Given the description of an element on the screen output the (x, y) to click on. 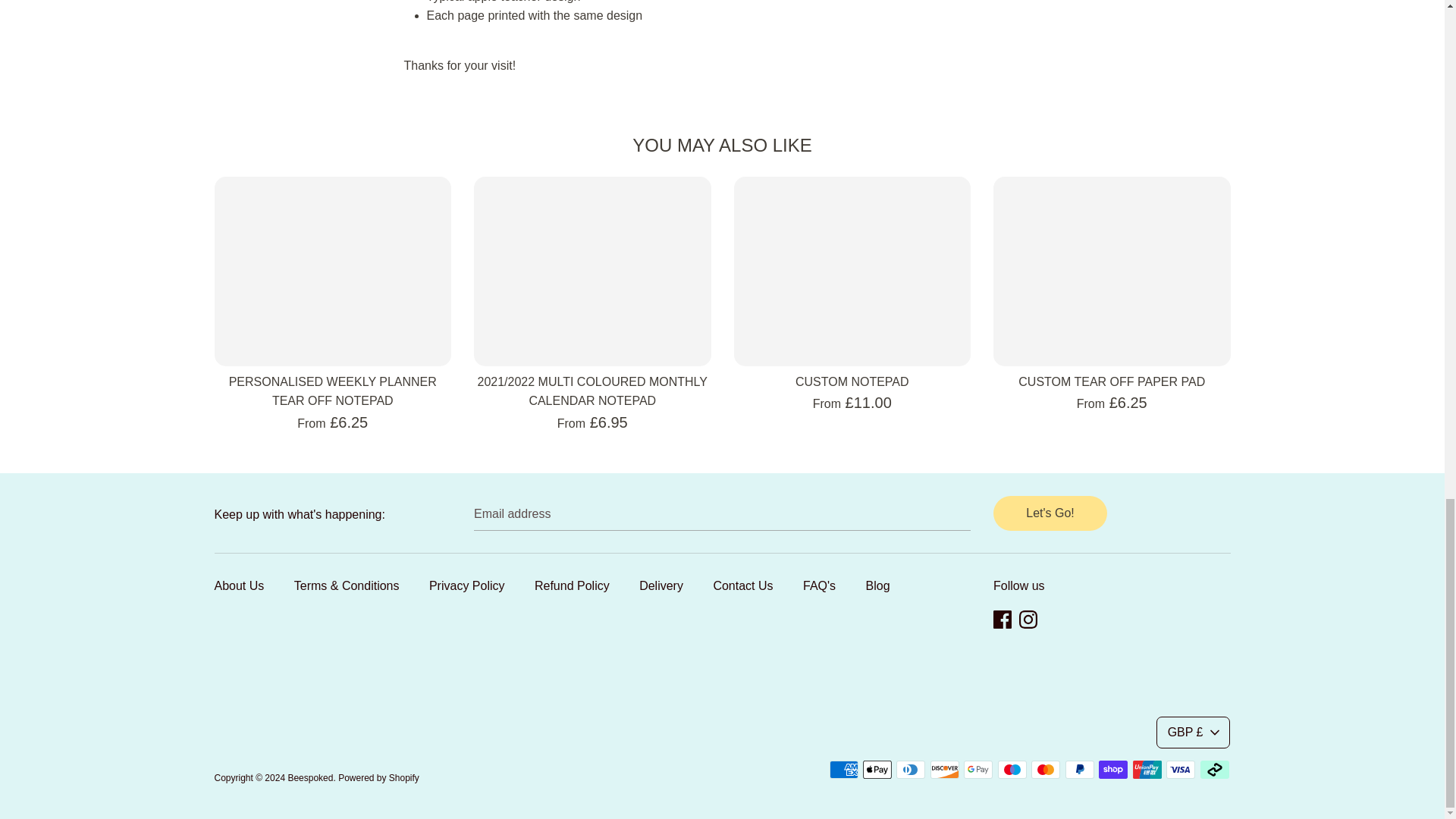
American Express (844, 769)
Apple Pay (877, 769)
